Given the description of an element on the screen output the (x, y) to click on. 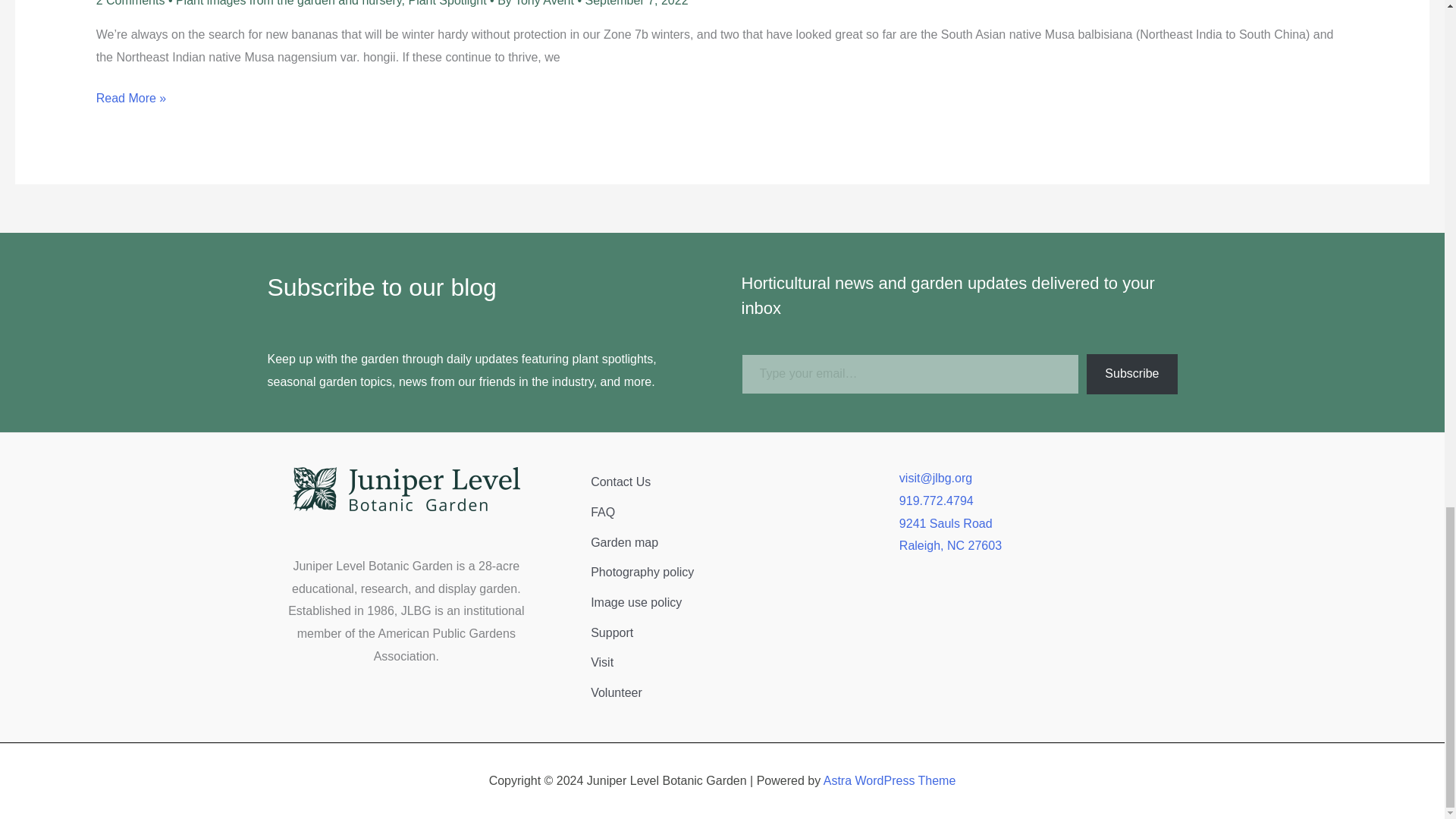
Open address in Google Maps (1038, 534)
View all posts by Tony Avent (545, 3)
Please fill in this field. (910, 373)
